Given the description of an element on the screen output the (x, y) to click on. 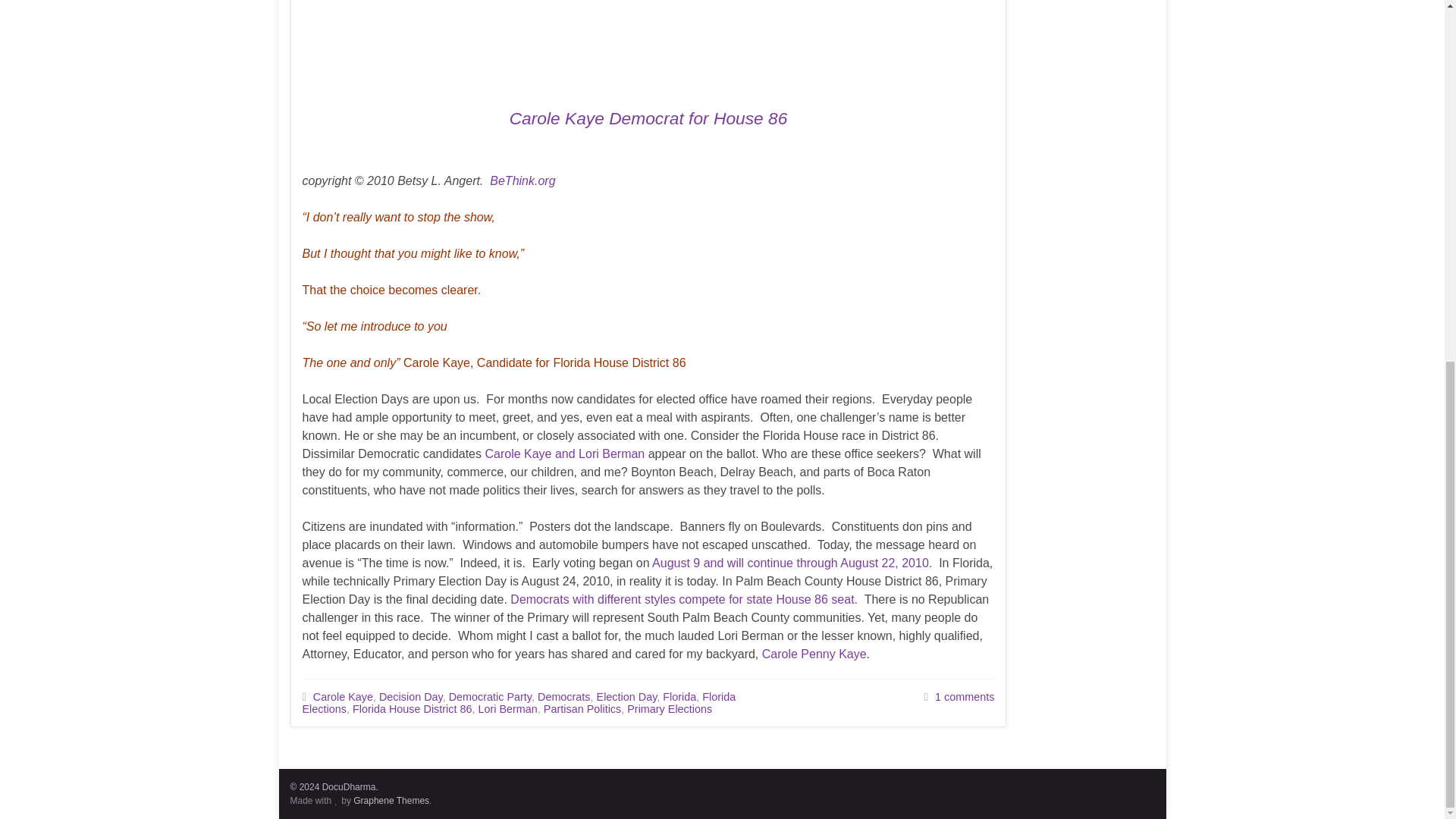
Carole Kaye (342, 696)
Democratic Party (489, 696)
Carole Kaye Democrat for House 86 (648, 117)
Election Day (627, 696)
Carole Kaye and Lori Berman (564, 453)
BeThink.org (521, 180)
Graphene Themes (391, 800)
Florida Elections (518, 702)
Primary Elections (669, 708)
Democrats (564, 696)
